Given the description of an element on the screen output the (x, y) to click on. 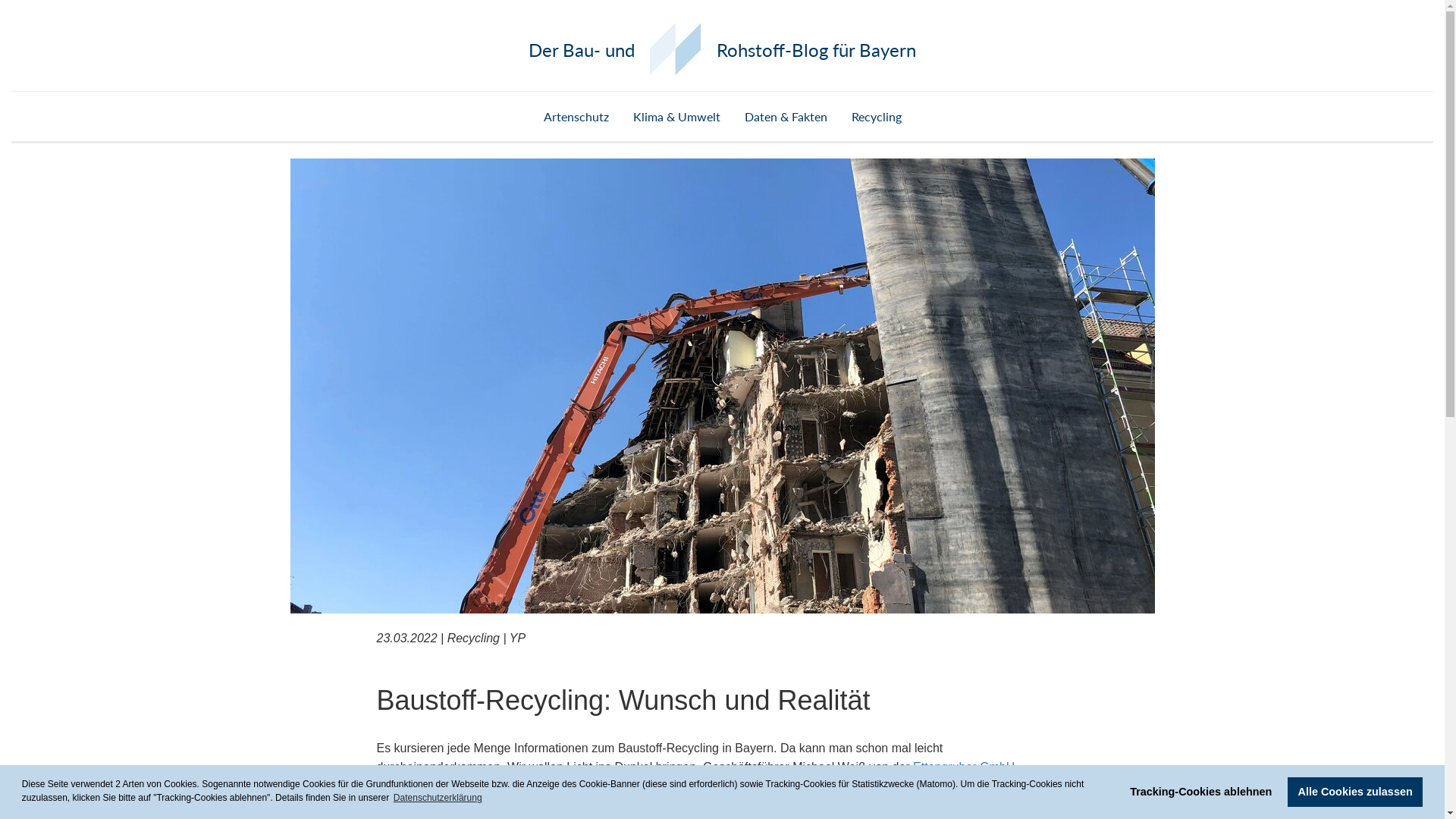
Daten & Fakten Element type: text (785, 115)
Recycling Element type: text (875, 115)
Artenschutz Element type: text (575, 115)
Alle Cookies zulassen Element type: text (1354, 791)
Ettengruber GmbH Recycling & Verwertung  Element type: text (695, 776)
Tracking-Cookies ablehnen Element type: text (1201, 791)
Klima & Umwelt Element type: text (675, 115)
